Given the description of an element on the screen output the (x, y) to click on. 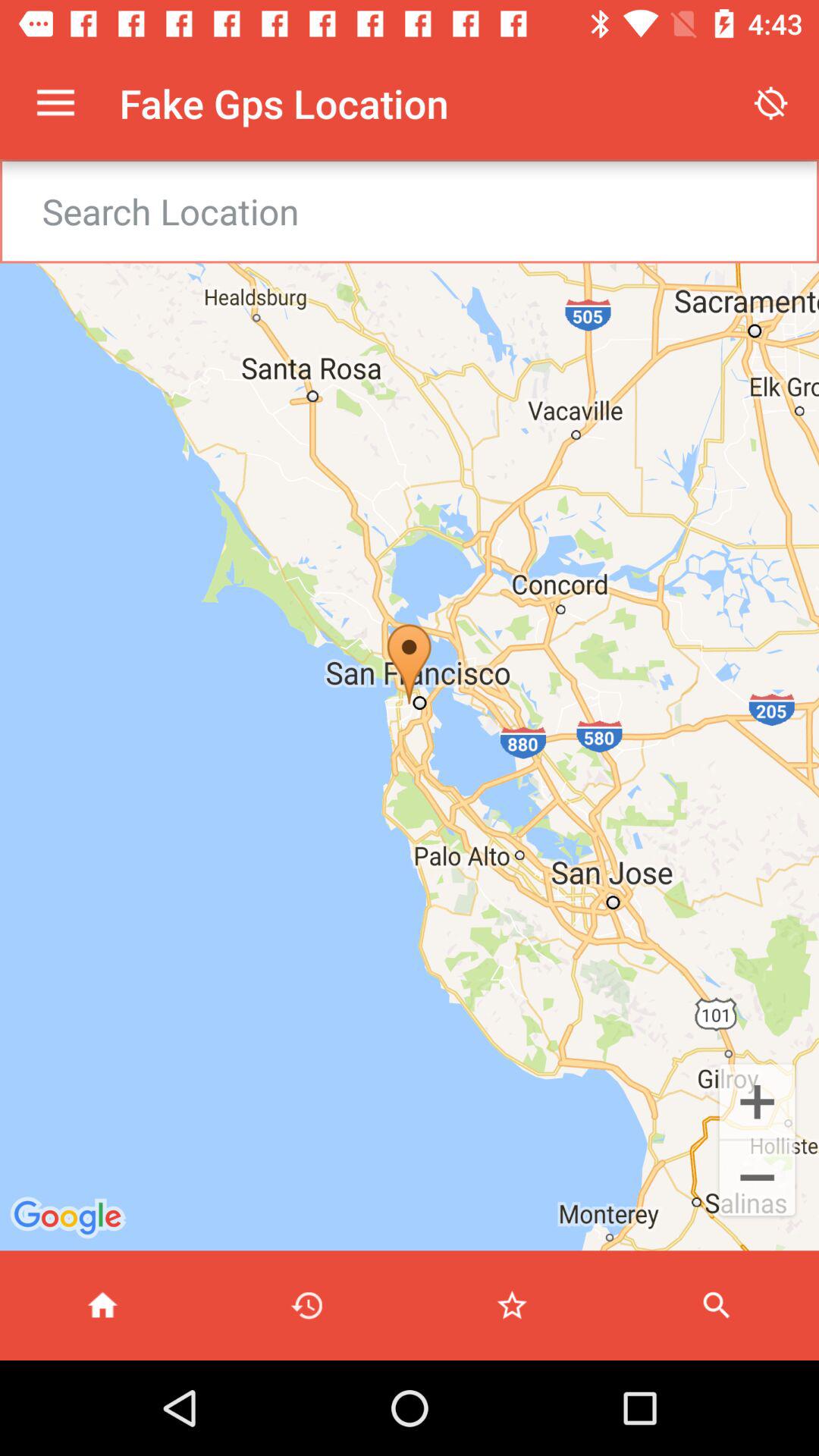
go to home screen (102, 1305)
